Given the description of an element on the screen output the (x, y) to click on. 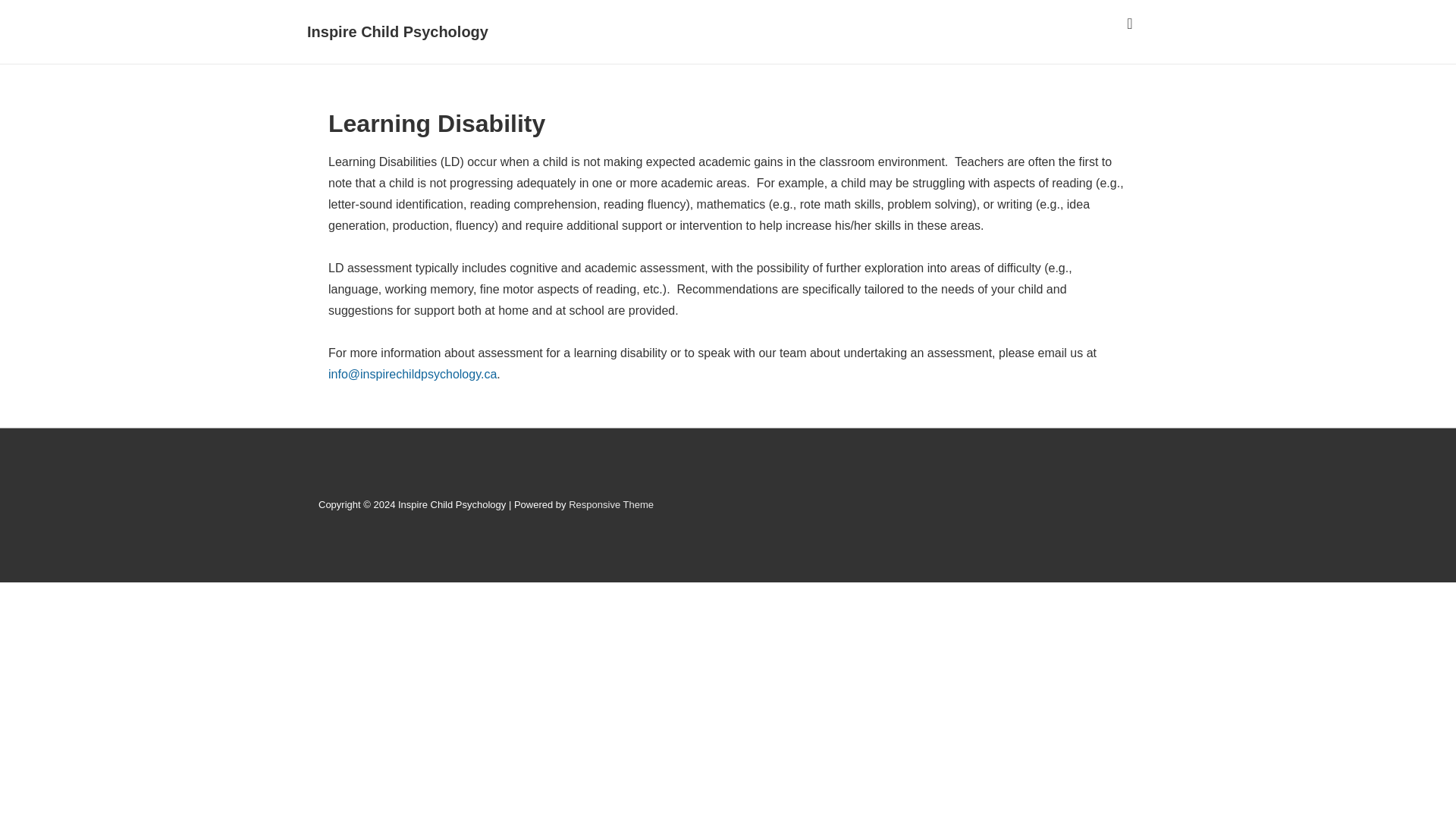
Responsive Theme (611, 504)
MENU (1130, 23)
Inspire Child Psychology (397, 31)
